Given the description of an element on the screen output the (x, y) to click on. 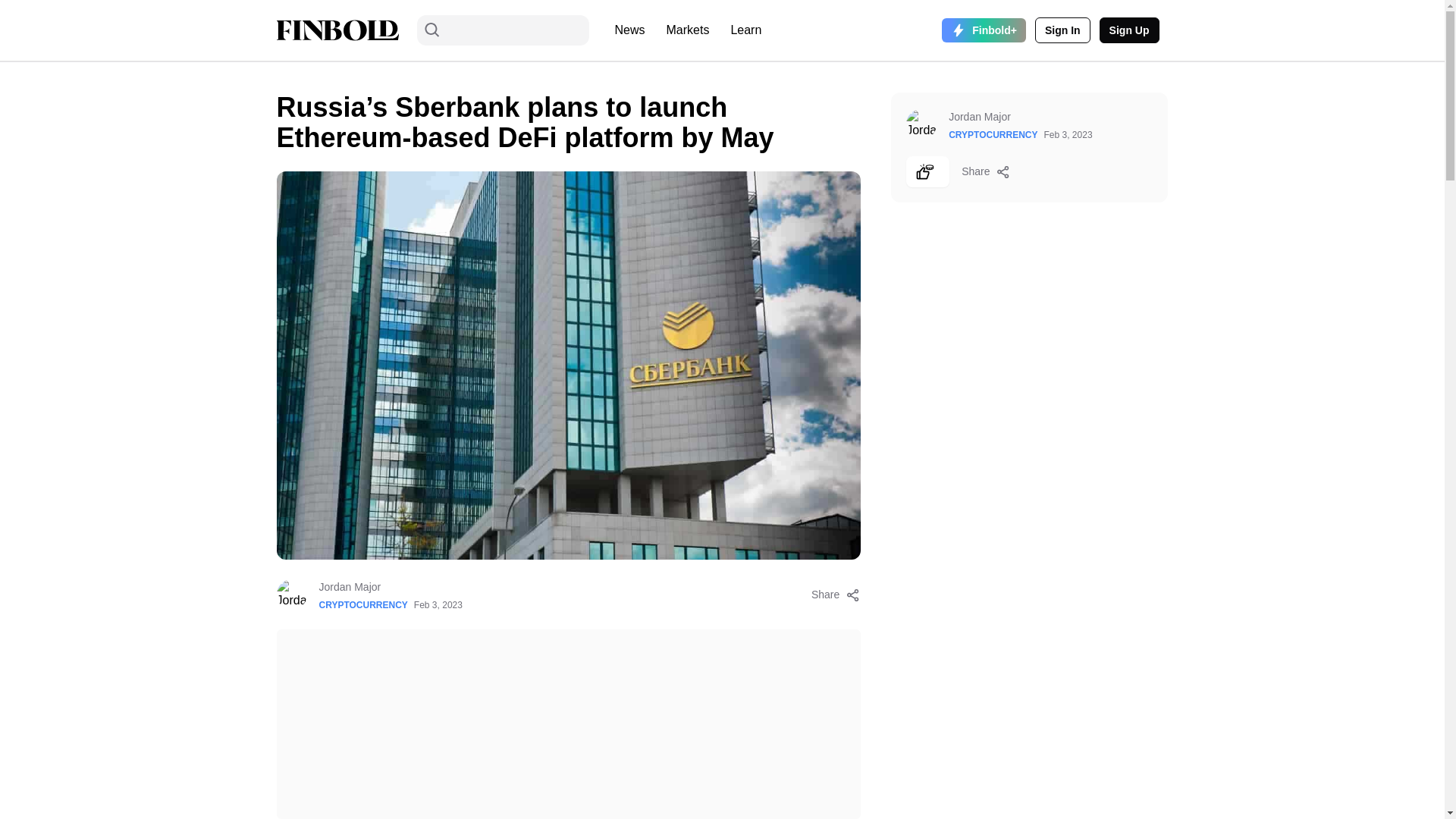
Finbold (336, 29)
Account (1128, 30)
Sign In (1062, 30)
Account (1062, 30)
News (629, 29)
Sign Up (1128, 30)
CRYPTOCURRENCY (362, 604)
Learn (745, 29)
Markets (688, 29)
Jordan Major (389, 587)
